Given the description of an element on the screen output the (x, y) to click on. 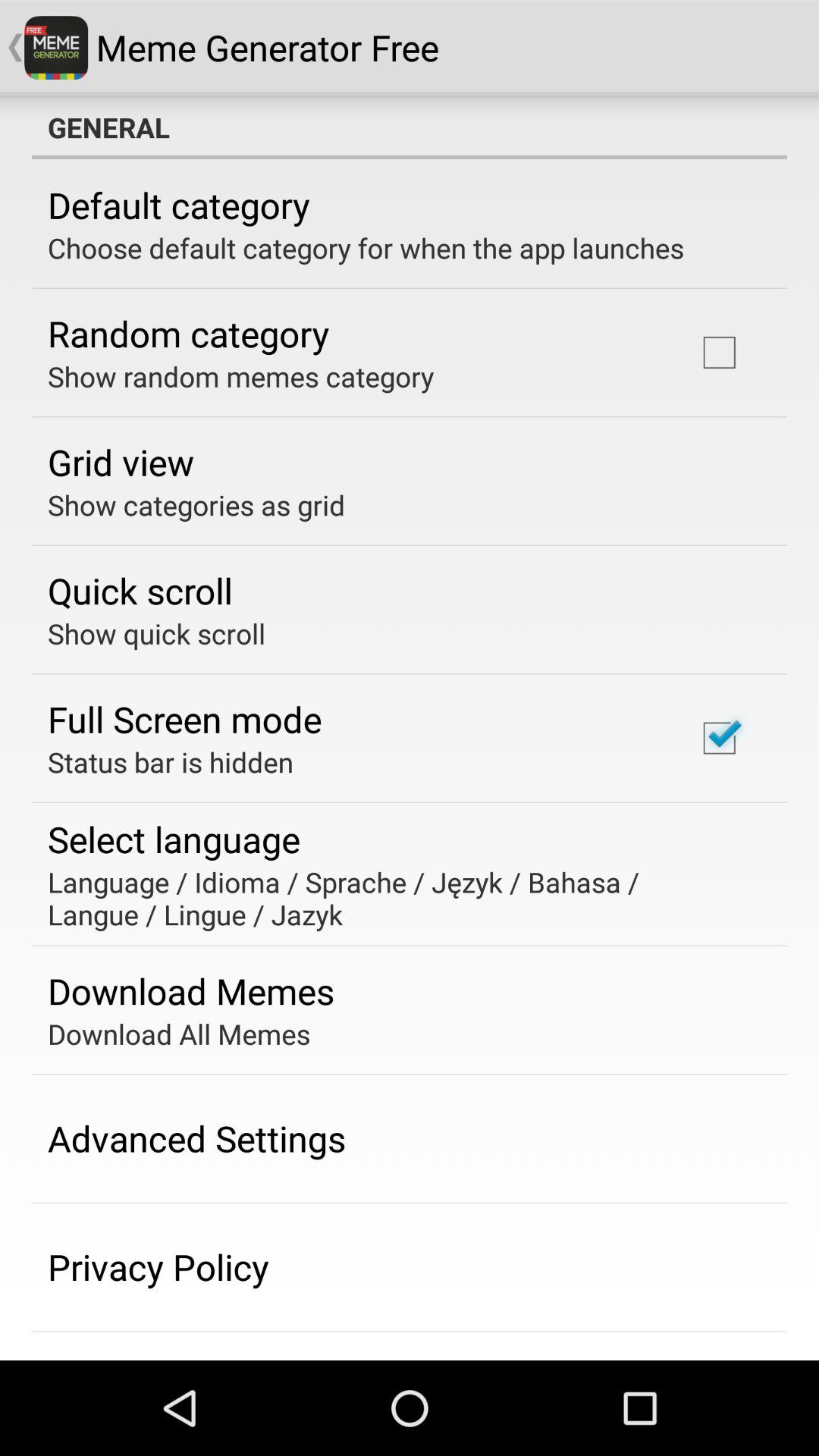
open status bar is app (170, 761)
